Given the description of an element on the screen output the (x, y) to click on. 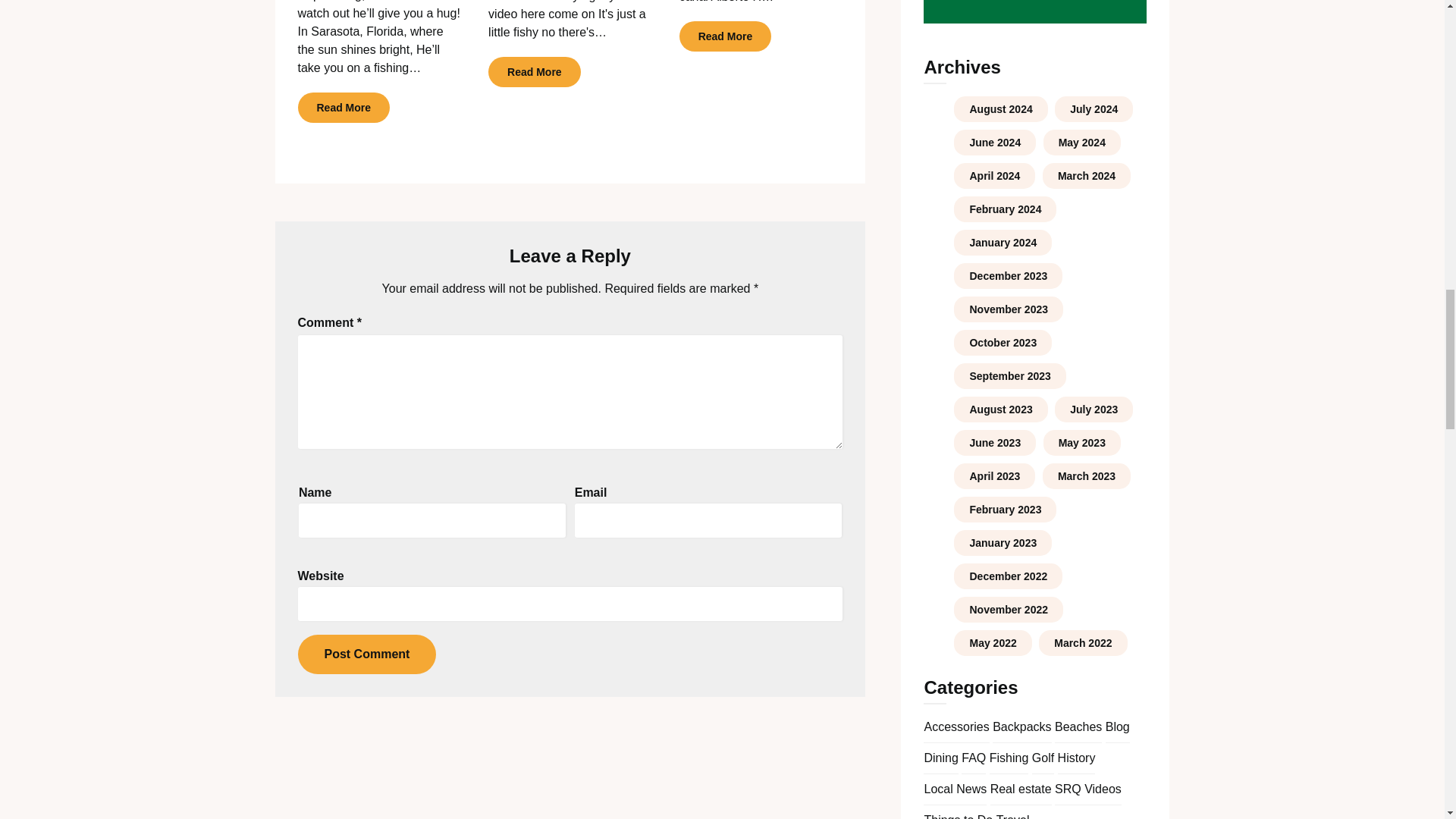
Post Comment (366, 654)
Read More (533, 71)
Read More (725, 36)
Read More (343, 107)
